Given the description of an element on the screen output the (x, y) to click on. 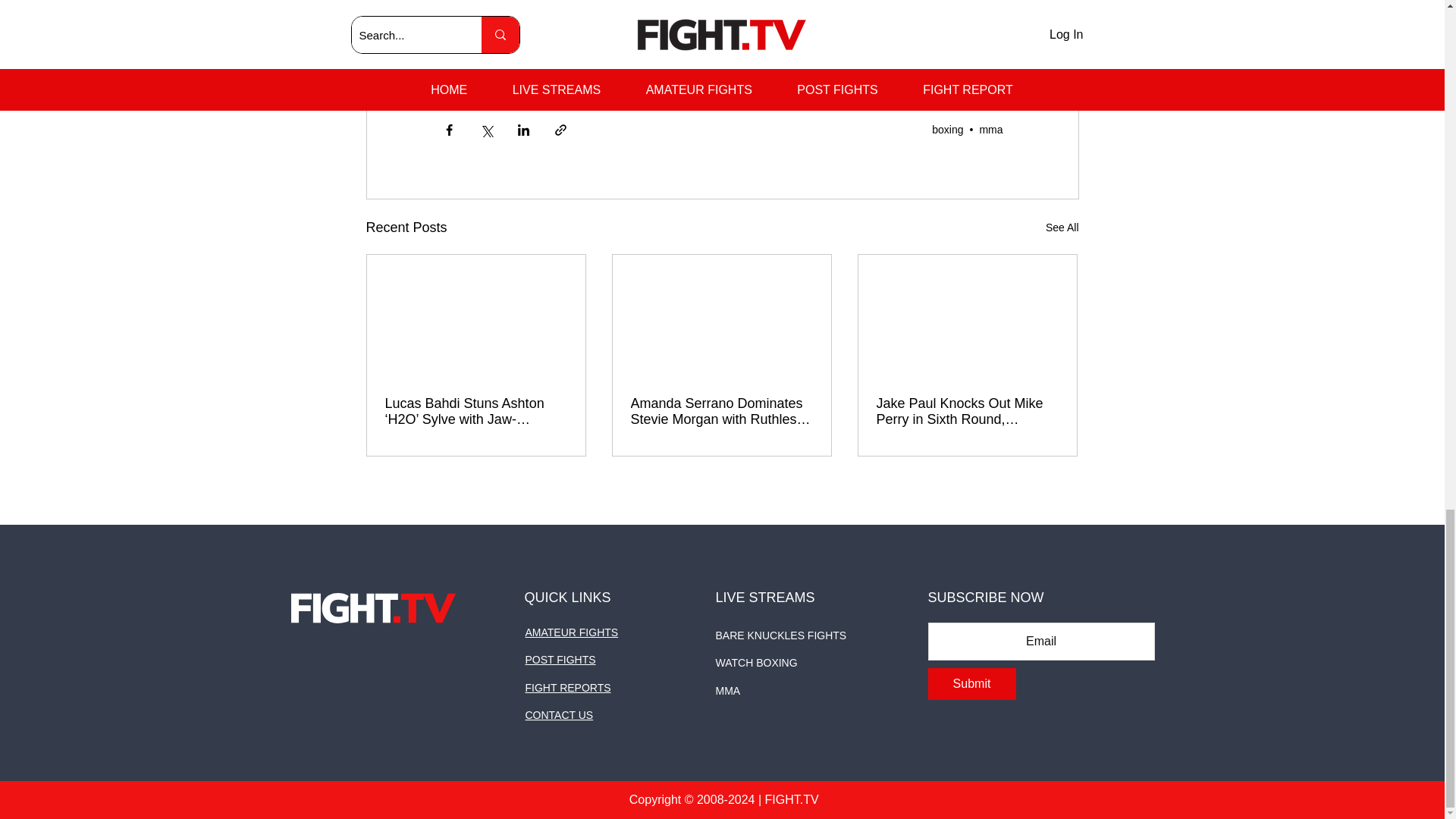
fight.tv (691, 72)
boxing (946, 129)
Jake Paul (627, 72)
boxing (517, 72)
See All (1061, 228)
PFL (568, 72)
MMA (463, 72)
trending (753, 72)
mma (990, 129)
